Given the description of an element on the screen output the (x, y) to click on. 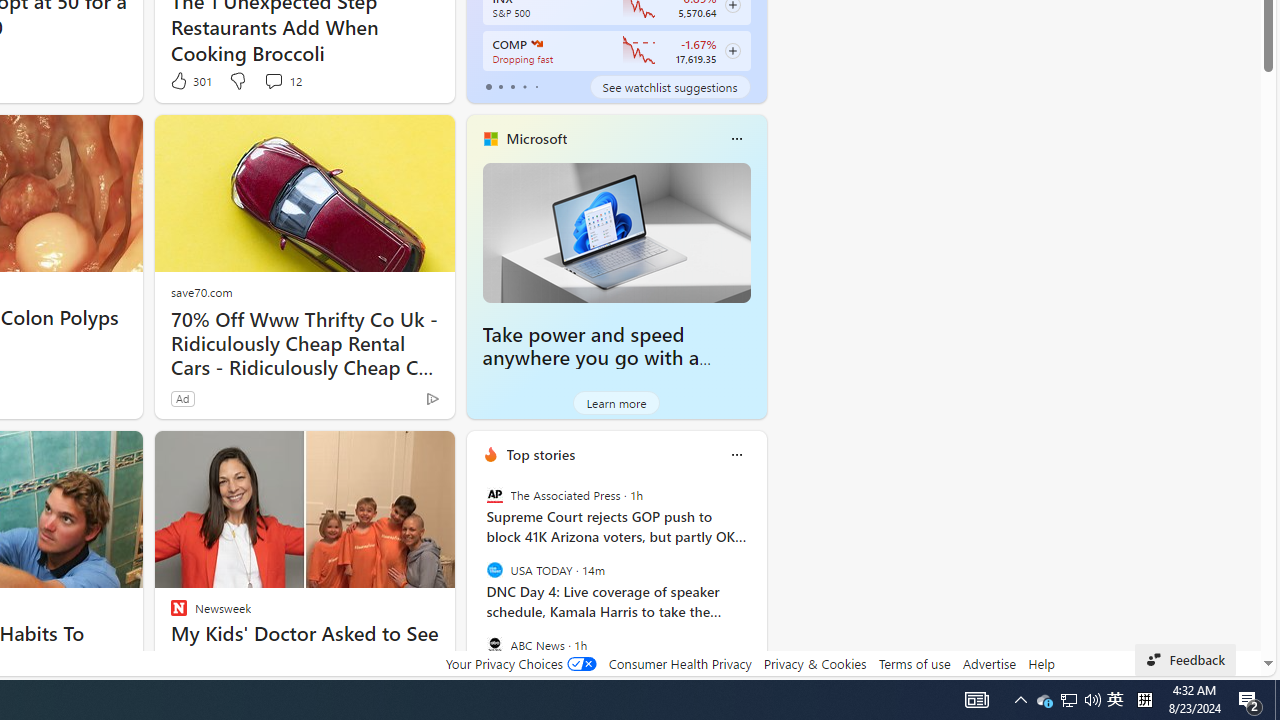
Consumer Health Privacy (680, 663)
View comments 12 Comment (273, 80)
Learn more (616, 402)
Top stories (540, 454)
tab-1 (500, 86)
tab-2 (511, 86)
The Associated Press (494, 494)
NASDAQ (535, 43)
Terms of use (914, 663)
